Given the description of an element on the screen output the (x, y) to click on. 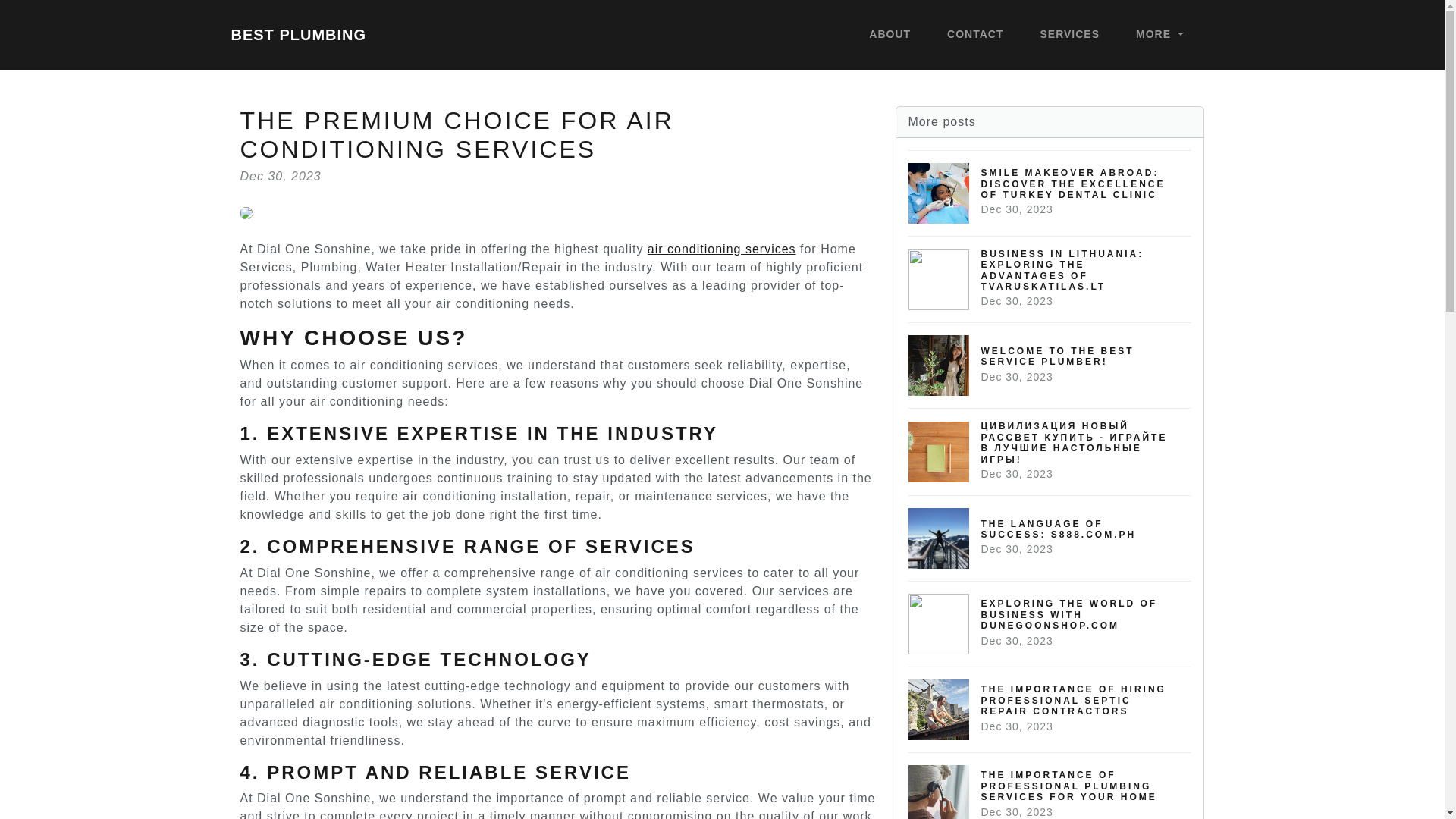
air conditioning services (721, 248)
CONTACT (974, 34)
SERVICES (1069, 34)
BEST PLUMBING (1050, 537)
MORE (298, 34)
ABOUT (1159, 34)
